Given the description of an element on the screen output the (x, y) to click on. 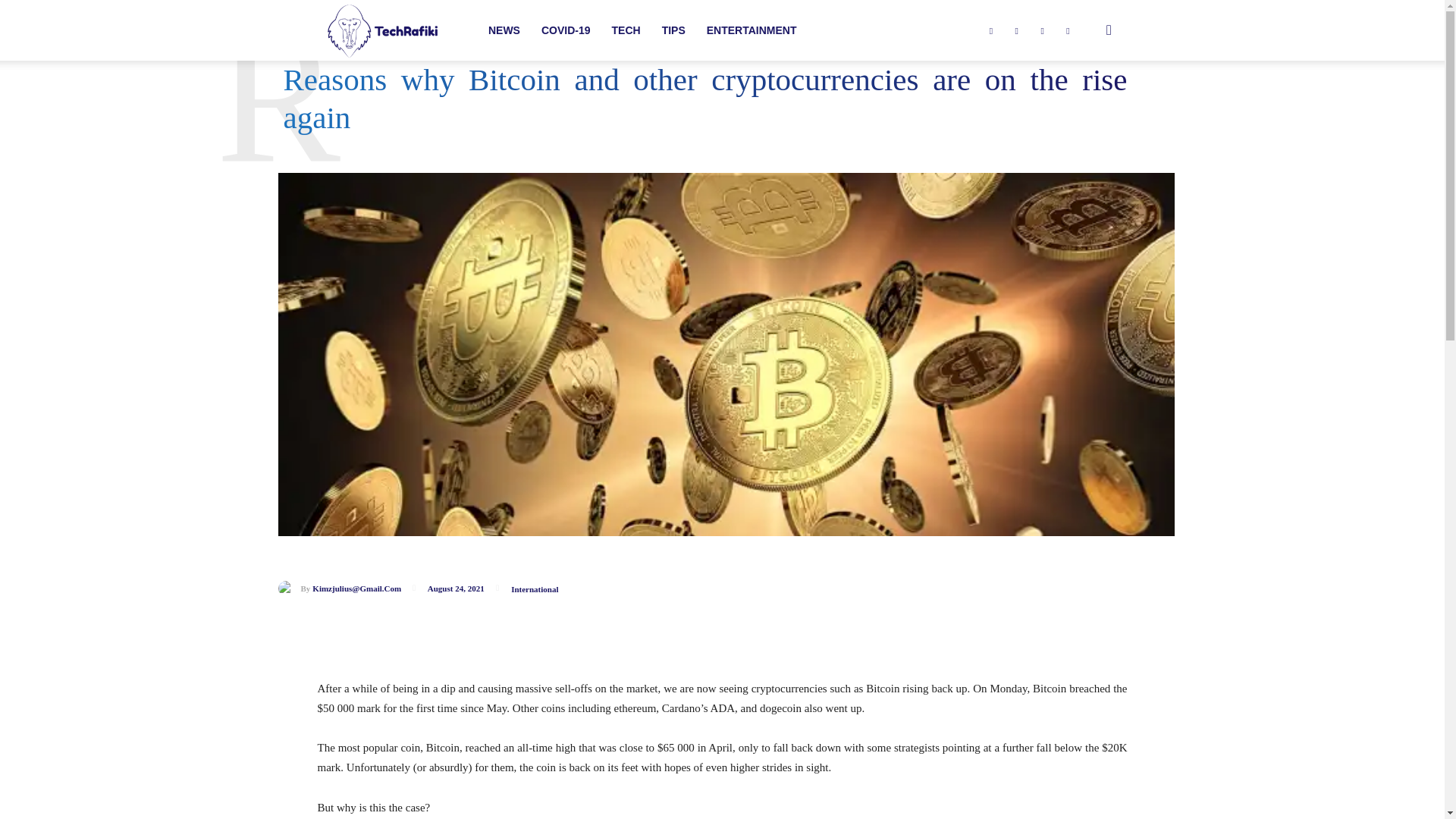
International (534, 589)
ENTERTAINMENT (751, 30)
techrafiki-logo (381, 30)
TechRafiki (381, 30)
COVID-19 (566, 30)
Search (1085, 102)
